Given the description of an element on the screen output the (x, y) to click on. 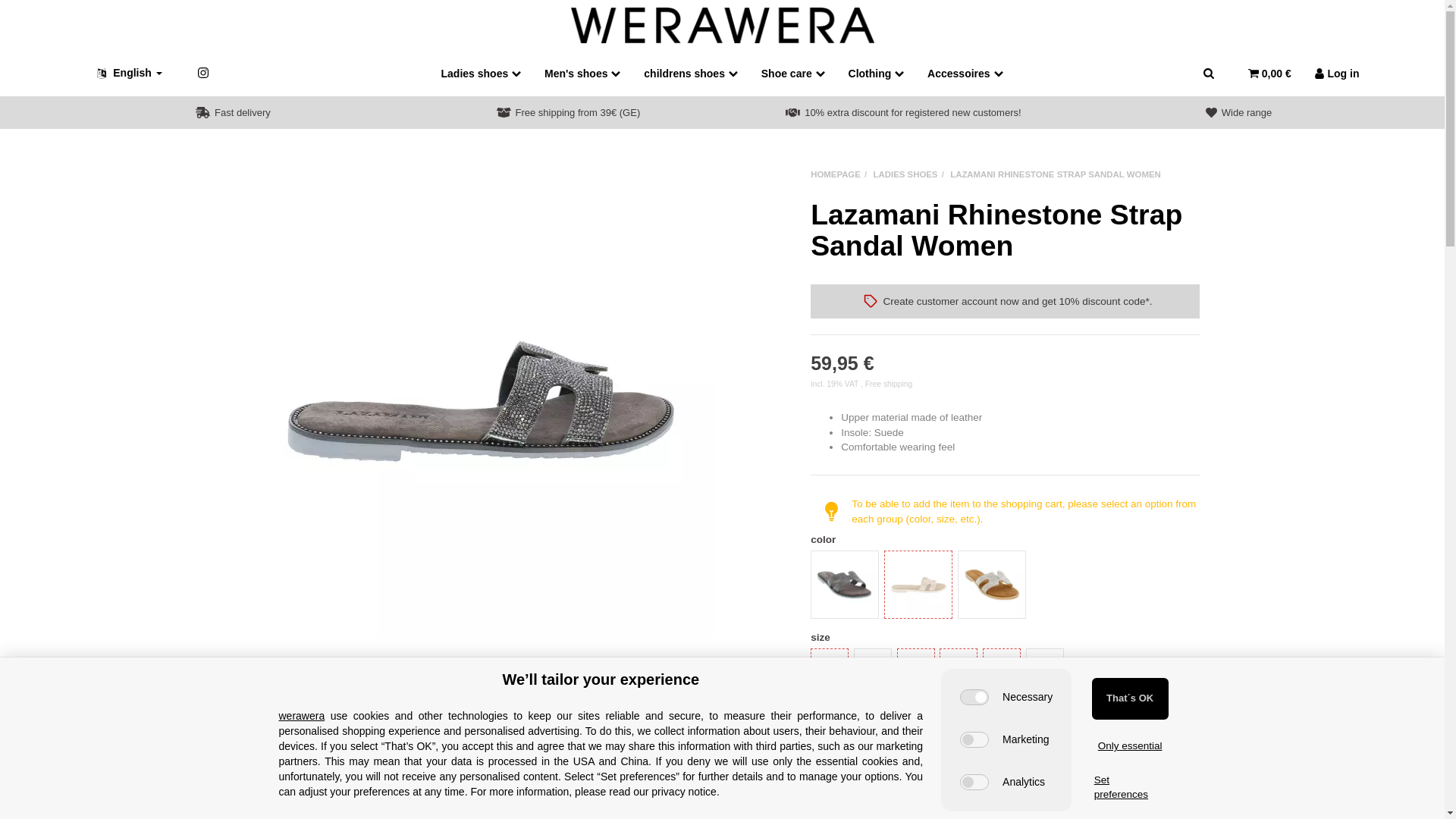
25665 (945, 654)
25660 (890, 556)
Men's shoes (581, 73)
25659 (815, 556)
25667 (1031, 654)
on (973, 697)
25663 (859, 654)
Ladies shoes (481, 73)
25662 (815, 654)
25661 (963, 556)
